Given the description of an element on the screen output the (x, y) to click on. 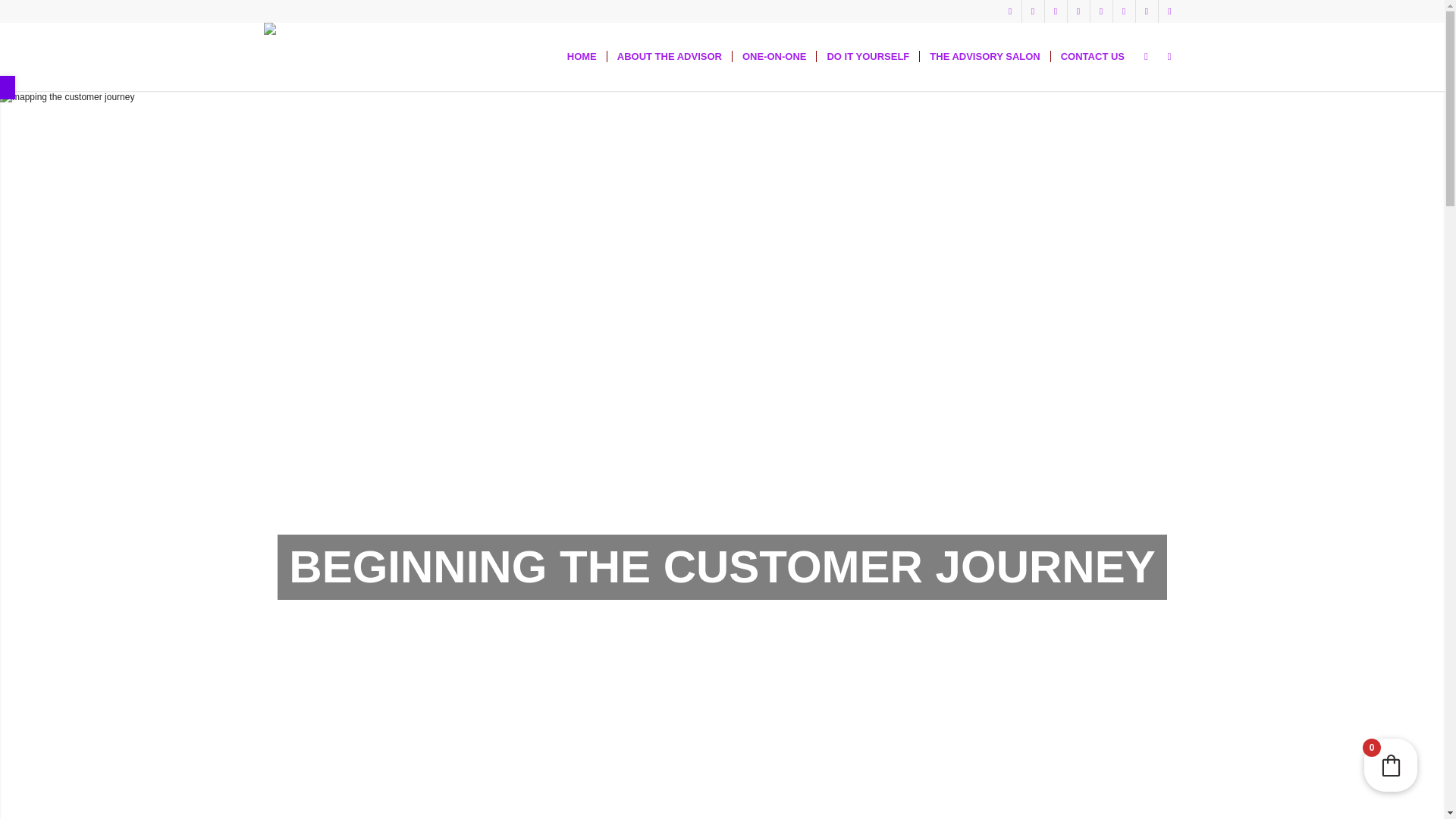
HOME (582, 56)
THE ADVISORY SALON (983, 56)
TikTok (1078, 11)
ONE-ON-ONE (774, 56)
Facebook (1032, 11)
Mail (1169, 11)
DO IT YOURSELF (866, 56)
Instagram (1010, 11)
Youtube (1056, 11)
LinkedIn (1124, 11)
